Given the description of an element on the screen output the (x, y) to click on. 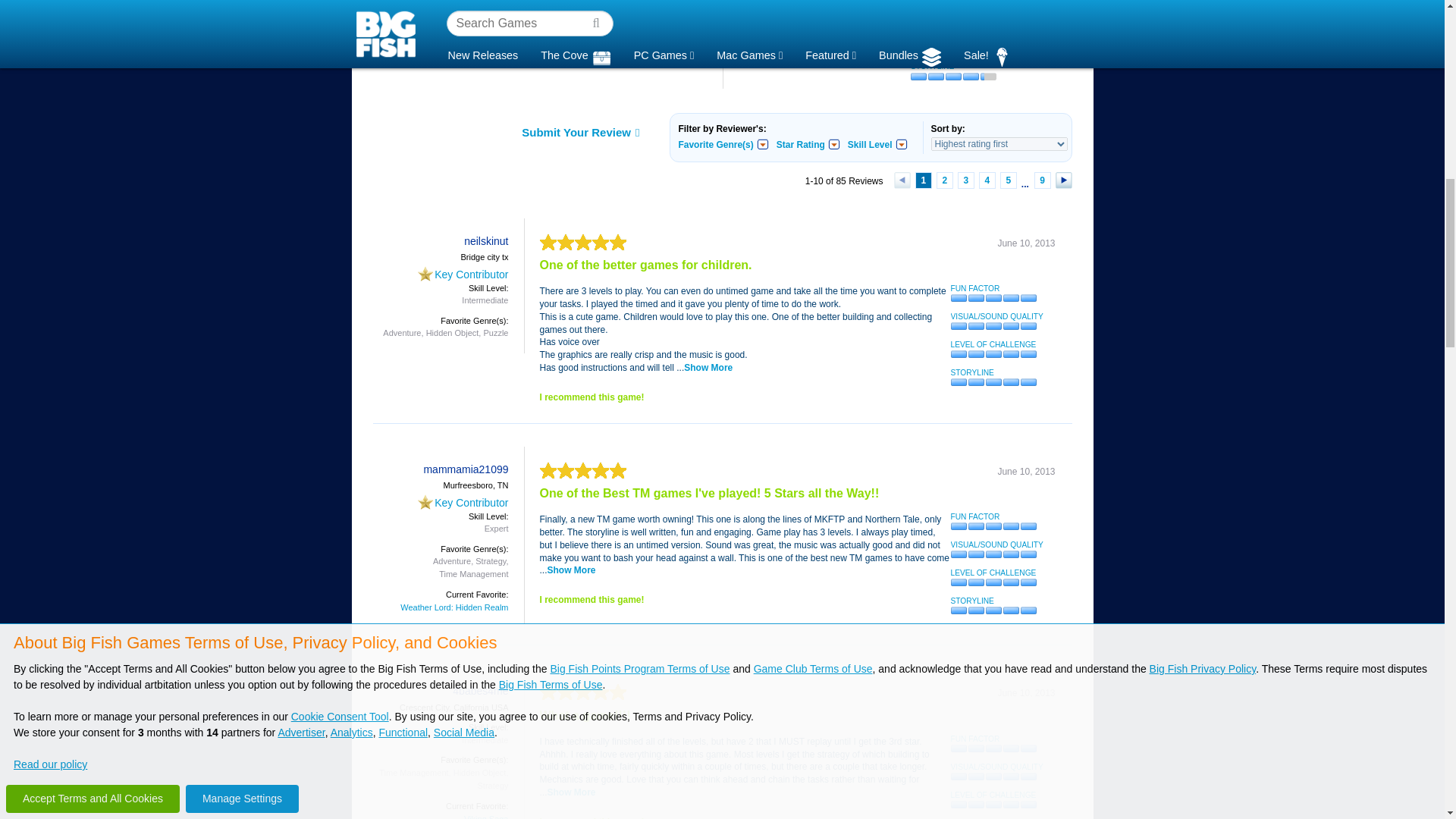
Good (954, 23)
Viking Saga (395, 4)
Good (954, 49)
Good (954, 76)
